Given the description of an element on the screen output the (x, y) to click on. 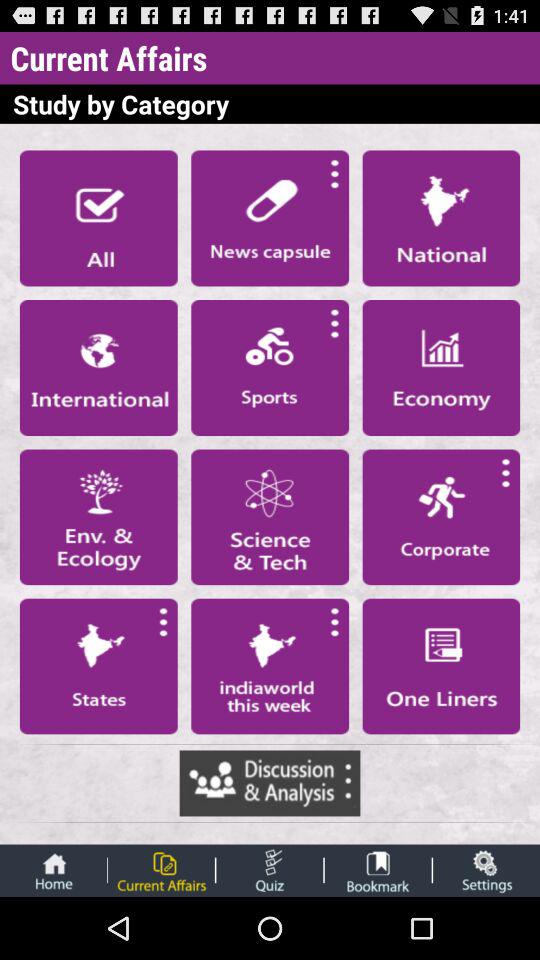
open current affairs (161, 870)
